Given the description of an element on the screen output the (x, y) to click on. 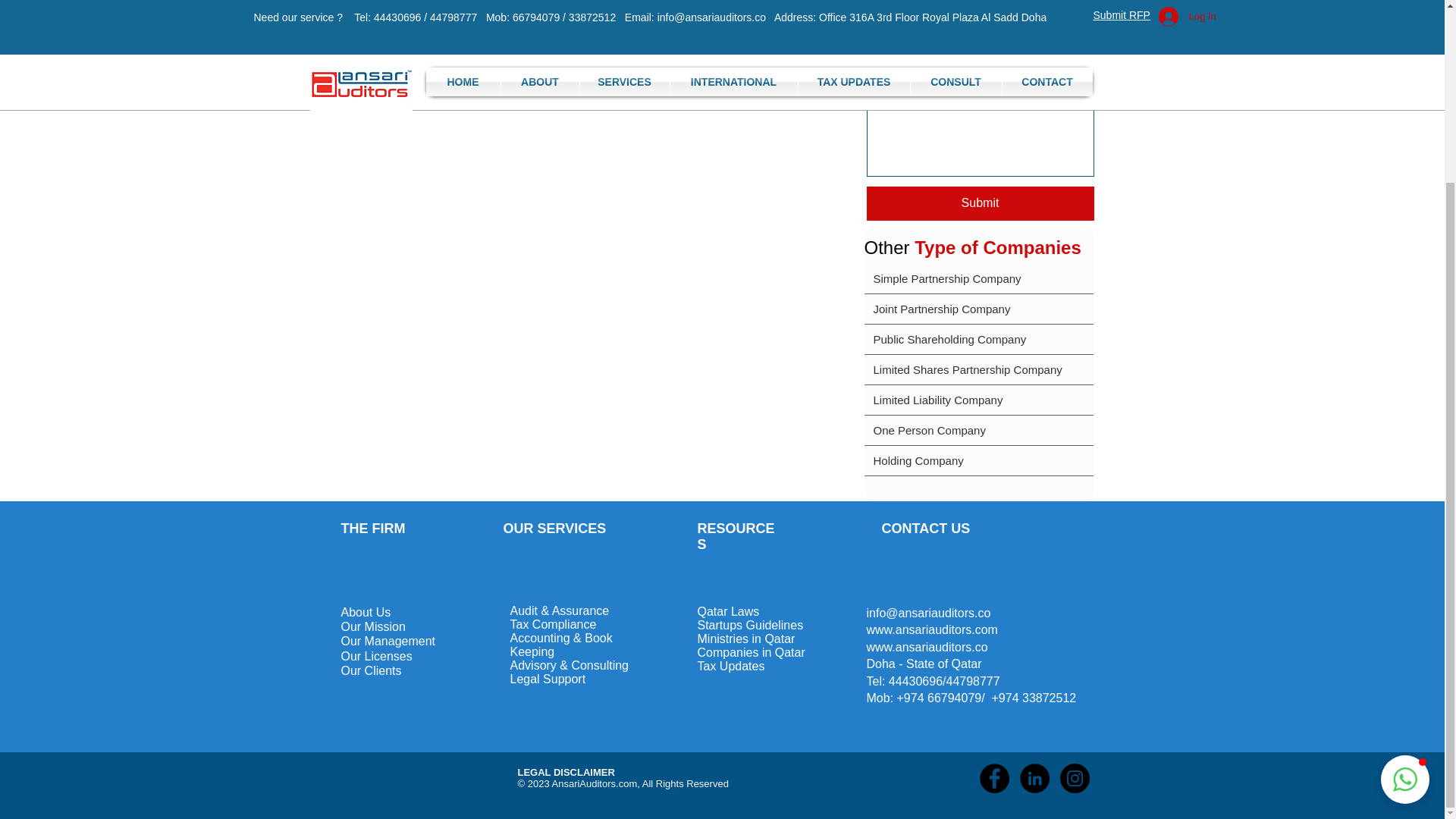
About Us (365, 612)
Limited Shares Partnership Company (978, 368)
Our Mission (373, 626)
Public Shareholding Company (978, 338)
Simple Partnership Company (978, 277)
Our Clients (370, 670)
Submit (979, 203)
THE FIRM (373, 528)
Tax Compliance (552, 624)
Our Licenses (376, 656)
OUR SERVICES (555, 528)
Joint Partnership Company (978, 308)
Holding Company (978, 460)
One Person Company (978, 429)
Our Management (387, 640)
